Given the description of an element on the screen output the (x, y) to click on. 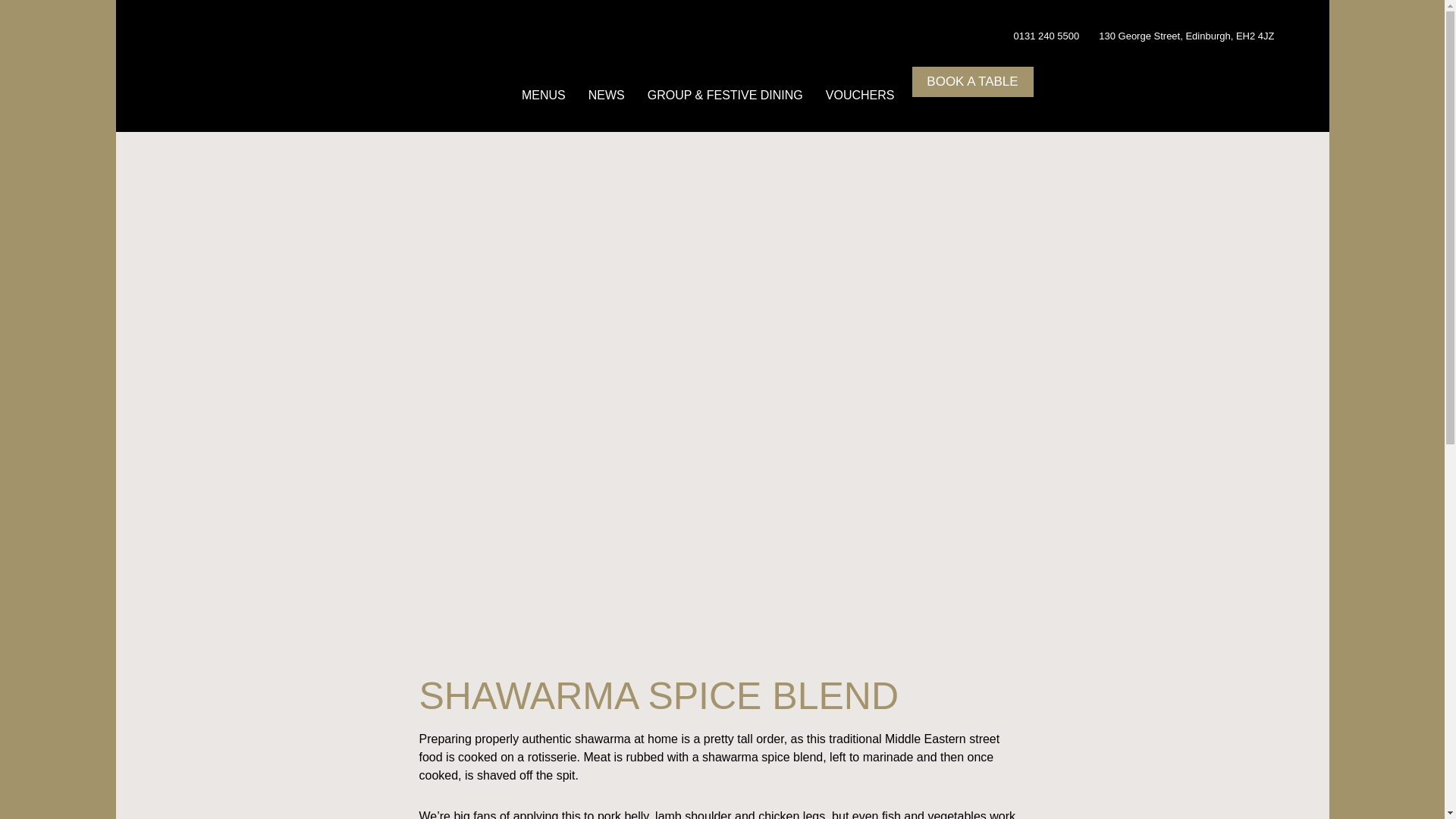
Baba (226, 58)
Call 0131 240 5500 (1046, 36)
Read News Articles (606, 95)
See Available Vouchers (859, 95)
MENUS (543, 95)
VOUCHERS (859, 95)
NEWS (606, 95)
0131 240 5500 (1046, 36)
Baba (226, 58)
